Given the description of an element on the screen output the (x, y) to click on. 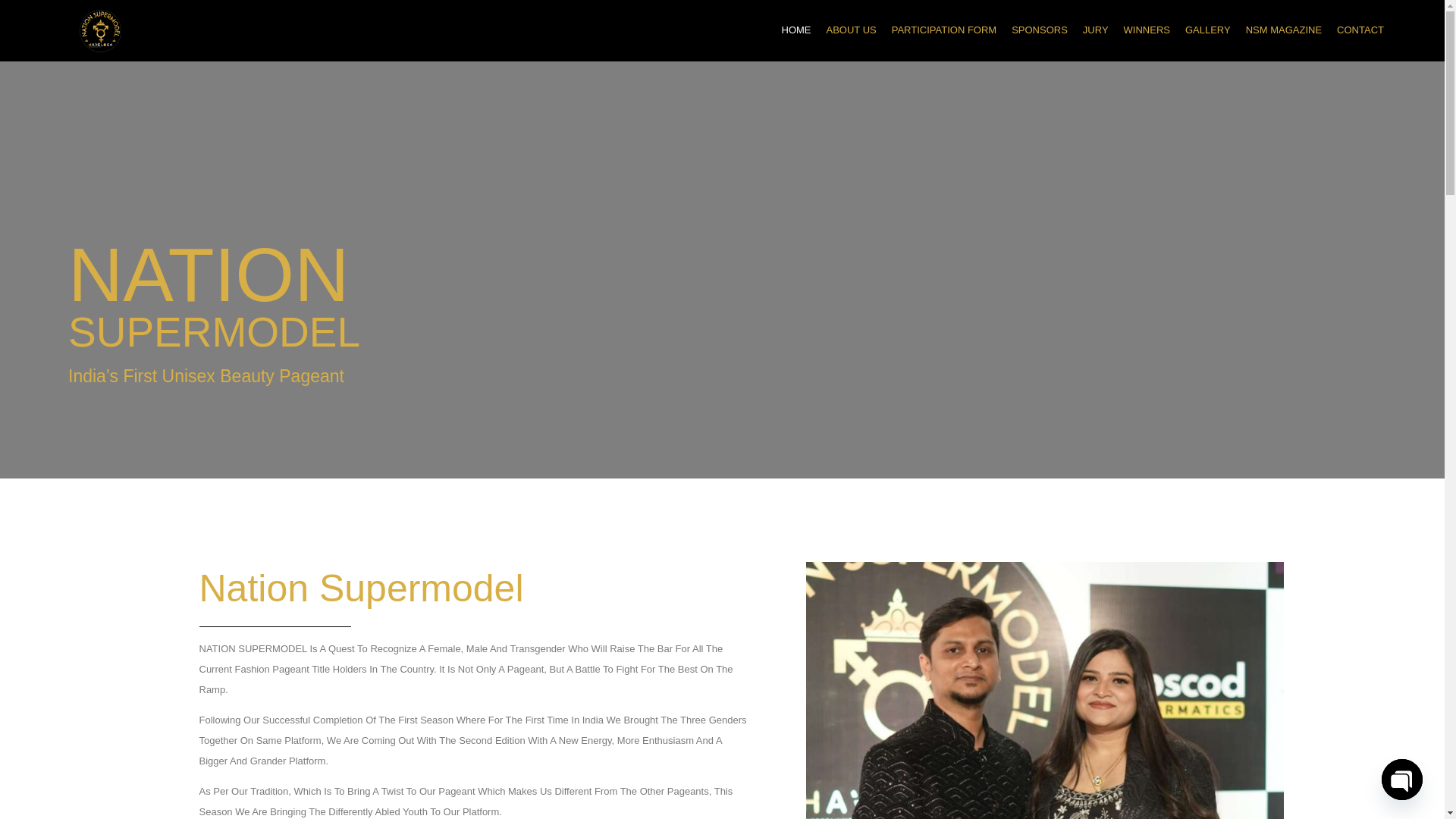
PARTICIPATION FORM (943, 30)
GALLERY (1208, 30)
WINNERS (1146, 30)
ABOUT US (850, 30)
HOME (795, 30)
NSM MAGAZINE (1284, 30)
SPONSORS (1039, 30)
CONTACT (1360, 30)
JURY (1095, 30)
